Given the description of an element on the screen output the (x, y) to click on. 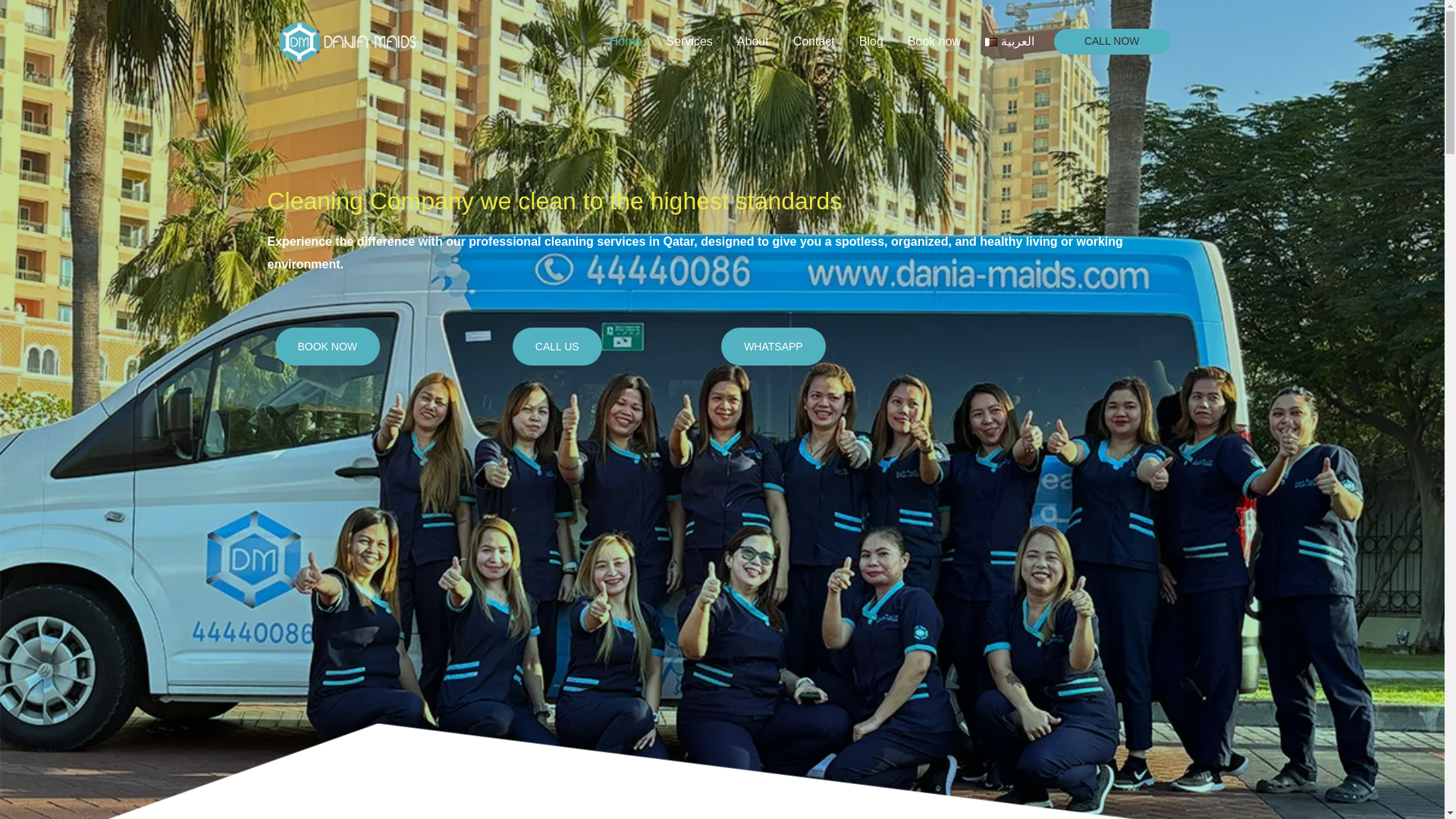
Home (624, 41)
Blog (871, 41)
WHATSAPP (772, 346)
Services (688, 41)
CALL NOW (1112, 41)
About (752, 41)
Contact (813, 41)
Book now (933, 41)
CALL US (557, 346)
BOOK NOW (327, 346)
